Given the description of an element on the screen output the (x, y) to click on. 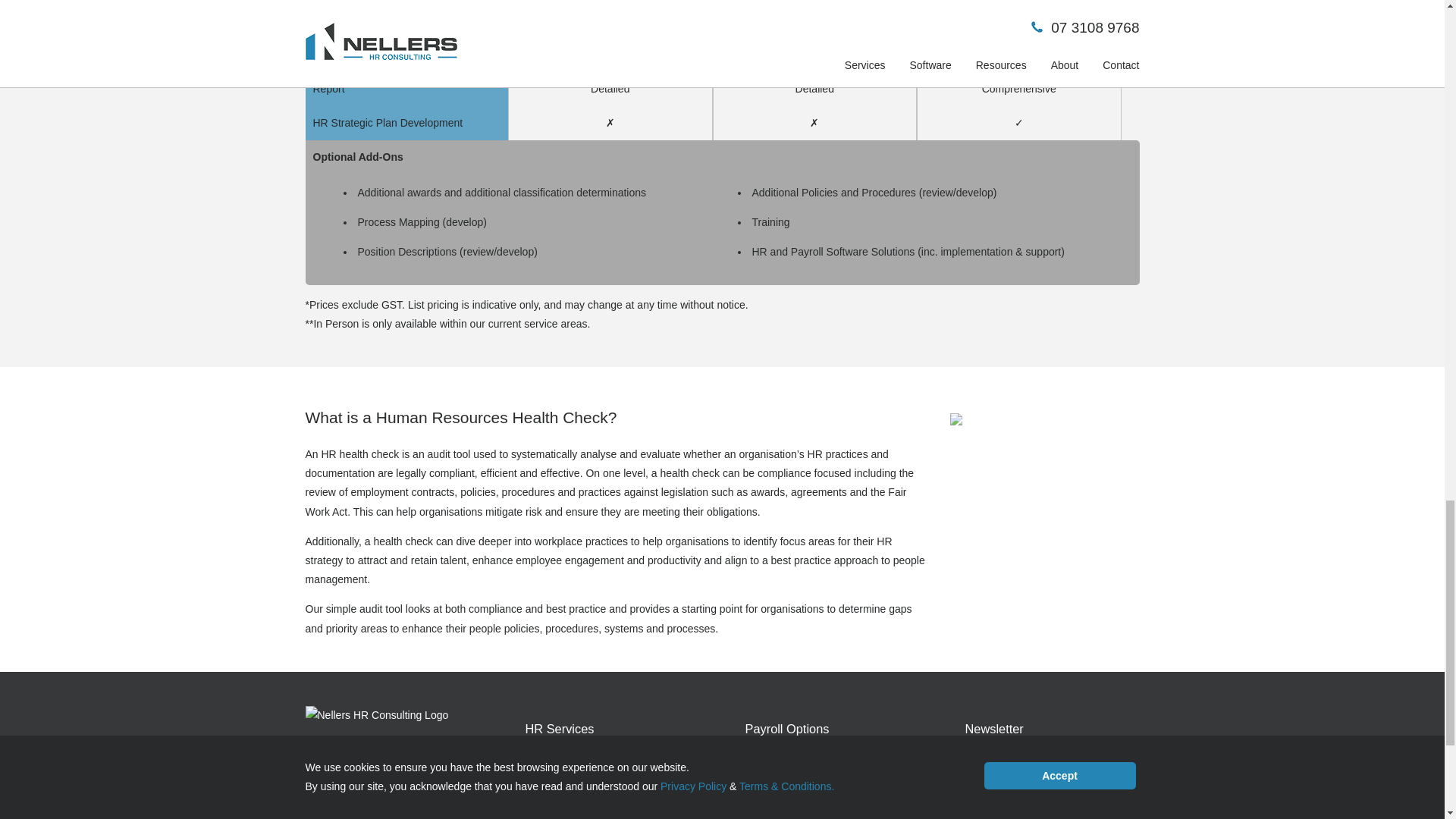
Nellers HR Consulting (376, 714)
